Given the description of an element on the screen output the (x, y) to click on. 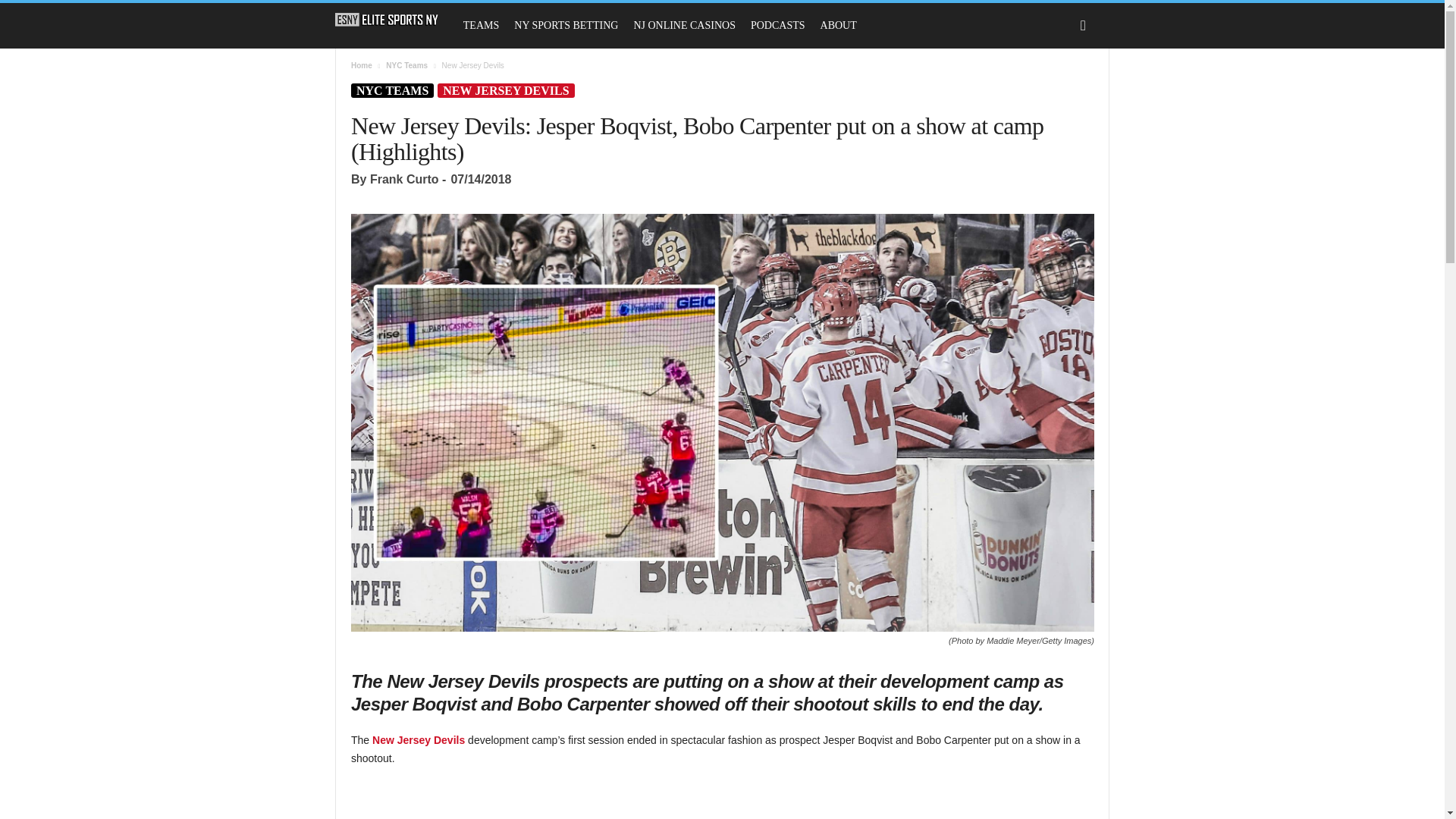
TEAMS (480, 25)
Elite Sports NY (394, 19)
View all posts in NYC Teams (406, 65)
Elite Sports NY (386, 19)
